Given the description of an element on the screen output the (x, y) to click on. 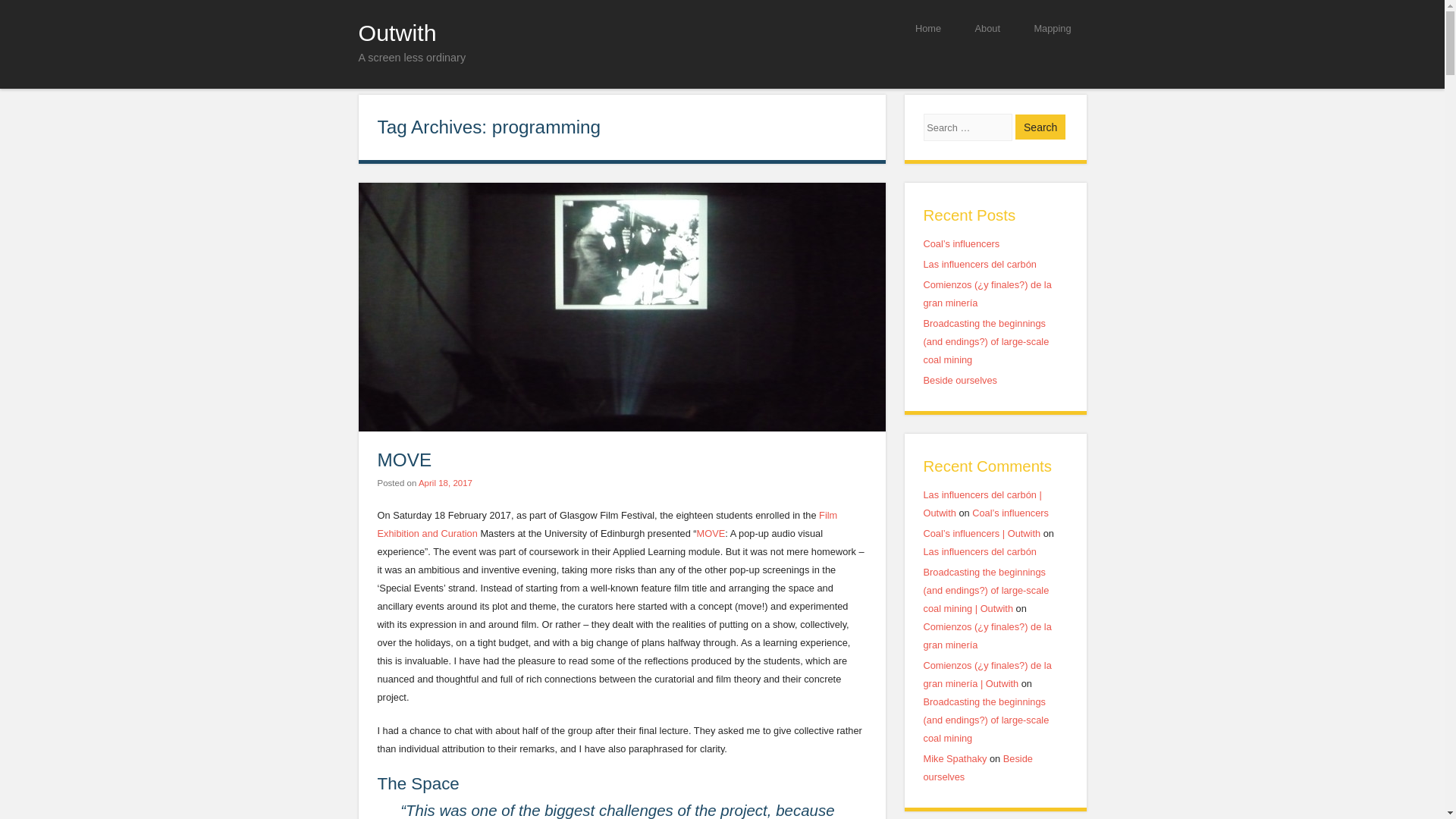
Outwith (396, 32)
Outwith (396, 32)
Search (1039, 126)
MOVE (711, 532)
MOVE (404, 459)
April 18, 2017 (445, 482)
Film Exhibition and Curation (607, 523)
Skip to content (769, 27)
About (986, 27)
Home (927, 27)
3:10 pm (445, 482)
Mapping (1051, 27)
Skip to content (769, 27)
